Given the description of an element on the screen output the (x, y) to click on. 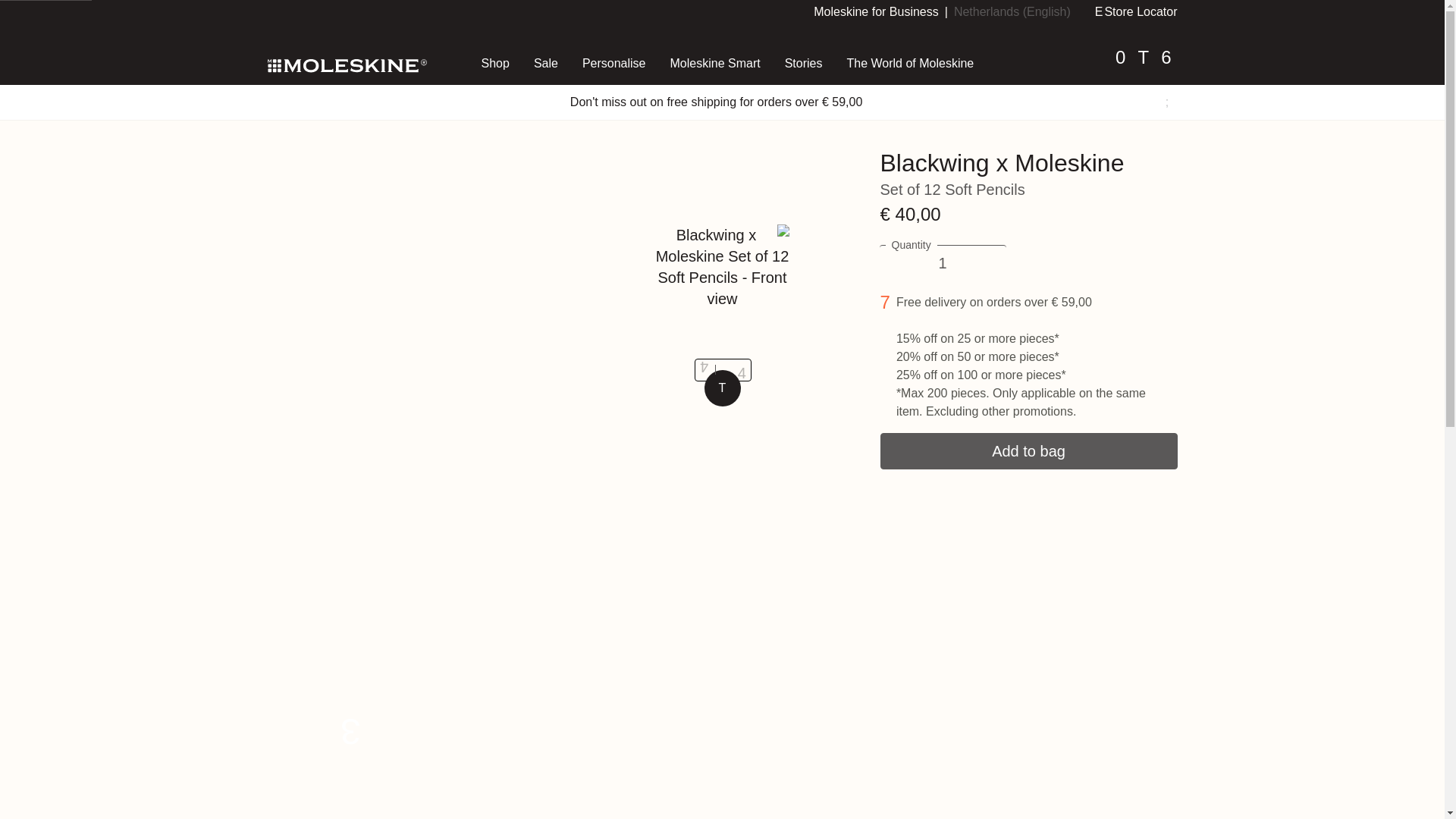
Store Locator (1135, 11)
Writing Tools (385, 21)
Blackwing x Moleskine Set of 12 Soft Pencils (686, 21)
1 (942, 262)
Moleskine Home (346, 64)
Blackwing x Moleskine (493, 21)
Sign in (1120, 66)
Choose your country (1011, 11)
Shop (325, 21)
Blackwing x Moleskine Set of 12 Soft Pencils - Front view (722, 266)
Moleskine for Business (876, 11)
Home (282, 21)
